Given the description of an element on the screen output the (x, y) to click on. 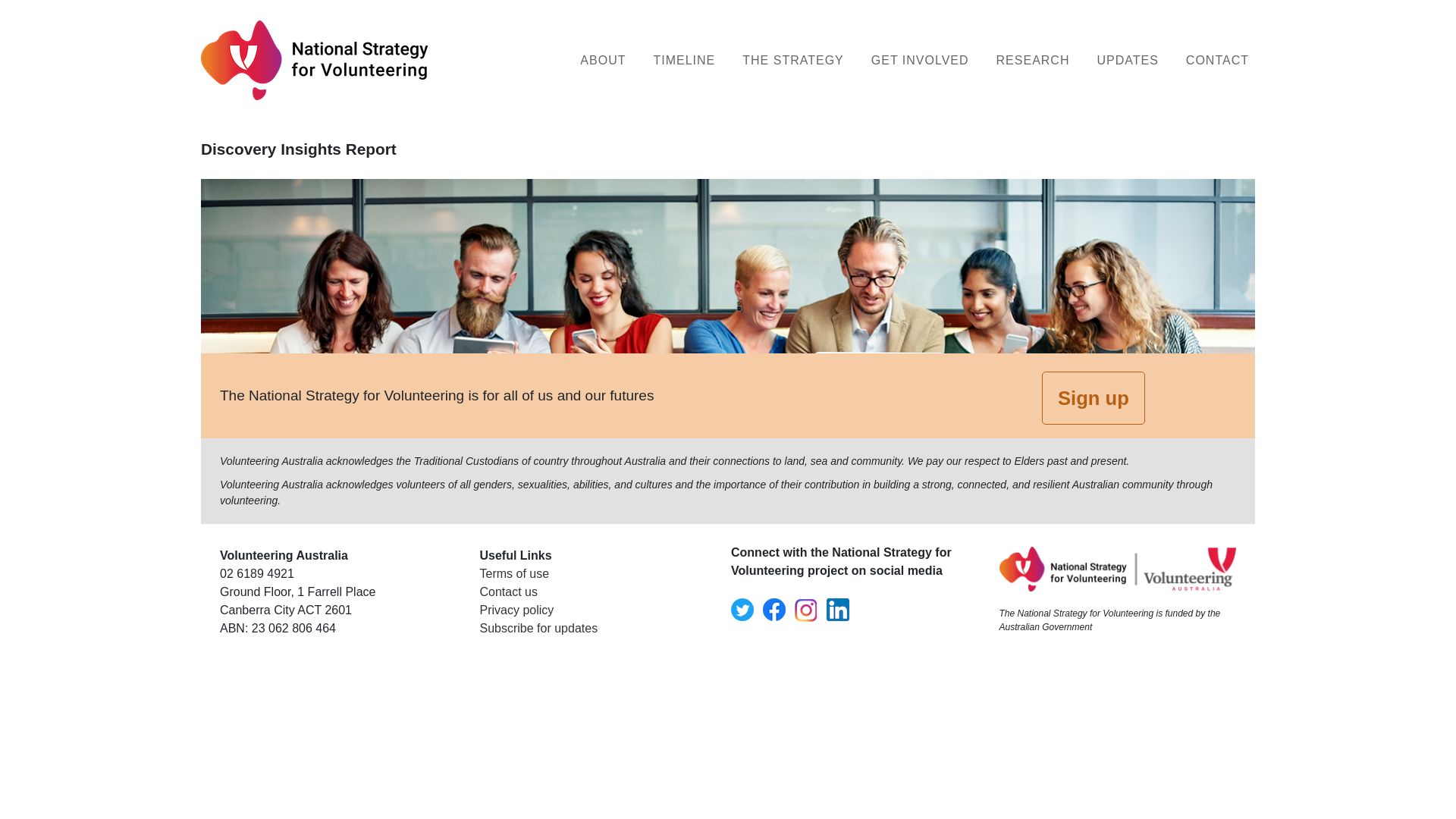
Contact us Element type: text (507, 591)
Privacy policy Element type: text (516, 609)
RESEARCH Element type: text (1033, 60)
UPDATES Element type: text (1127, 60)
THE STRATEGY Element type: text (793, 60)
Terms of use Element type: text (514, 573)
ABOUT Element type: text (602, 60)
Subscribe for updates Element type: text (538, 627)
Sign up Element type: text (1093, 397)
GET INVOLVED Element type: text (920, 60)
CONTACT Element type: text (1217, 60)
TIMELINE Element type: text (683, 60)
